Given the description of an element on the screen output the (x, y) to click on. 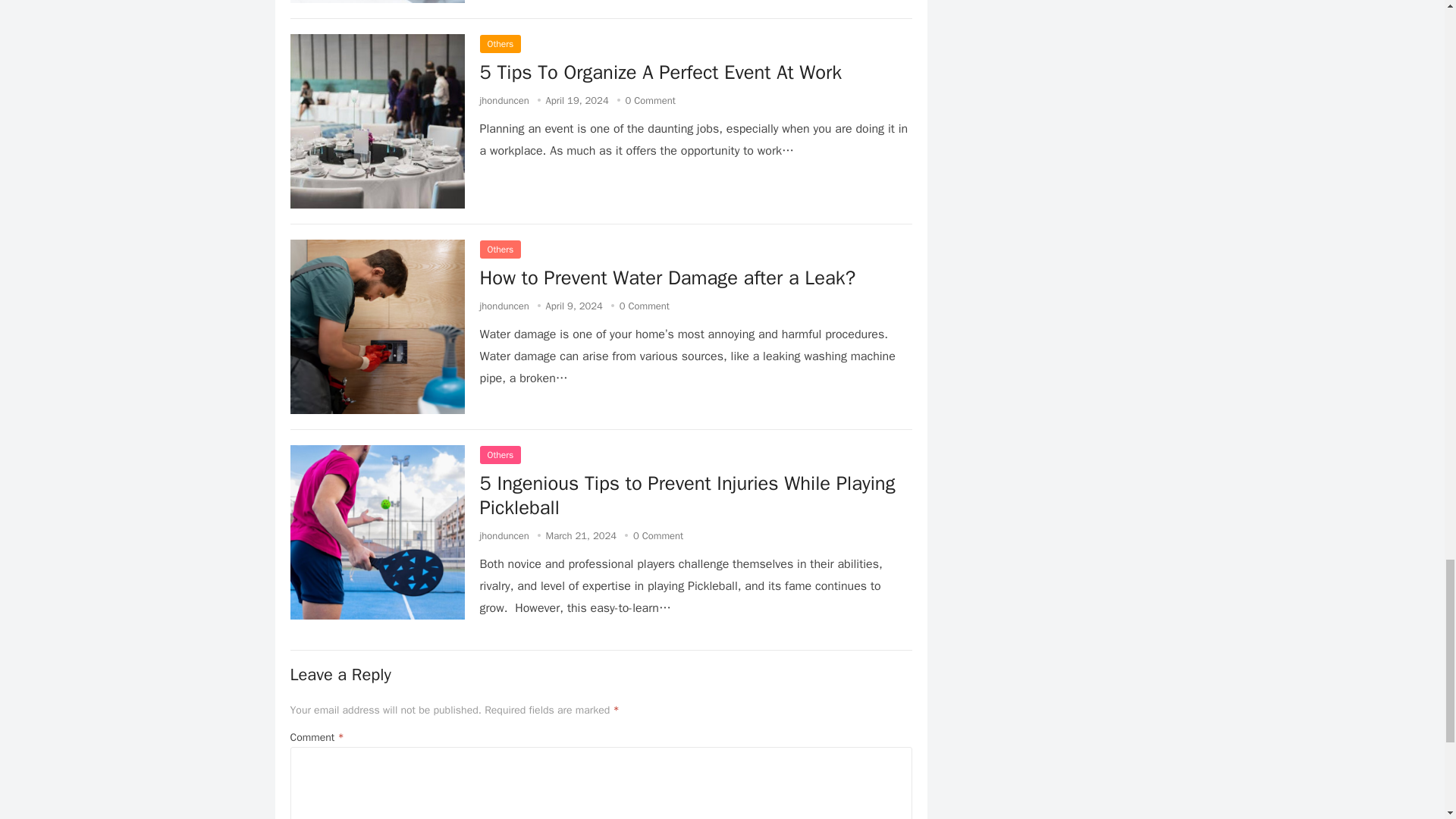
Posts by jhonduncen (503, 535)
Posts by jhonduncen (503, 100)
Posts by jhonduncen (503, 305)
